Given the description of an element on the screen output the (x, y) to click on. 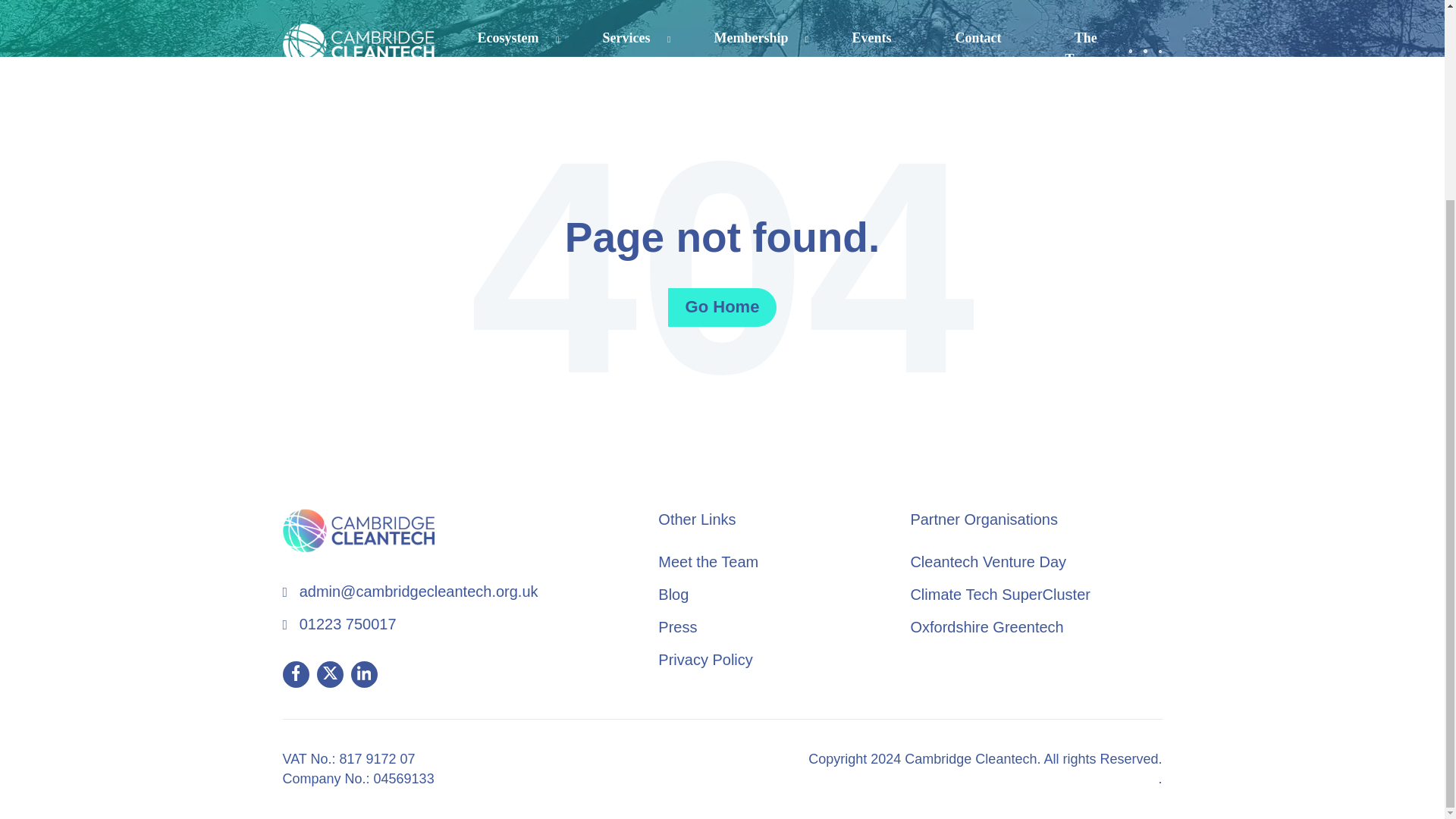
Press (677, 627)
01223 750017 (347, 623)
linkedin-in icon (363, 672)
Oxfordshire Greentech (986, 627)
Climate Tech SuperCluster (1000, 594)
Privacy Policy (705, 659)
Cleantech Venture Day (987, 561)
Go Home (722, 307)
foot-logo (357, 530)
Blog (673, 594)
